Given the description of an element on the screen output the (x, y) to click on. 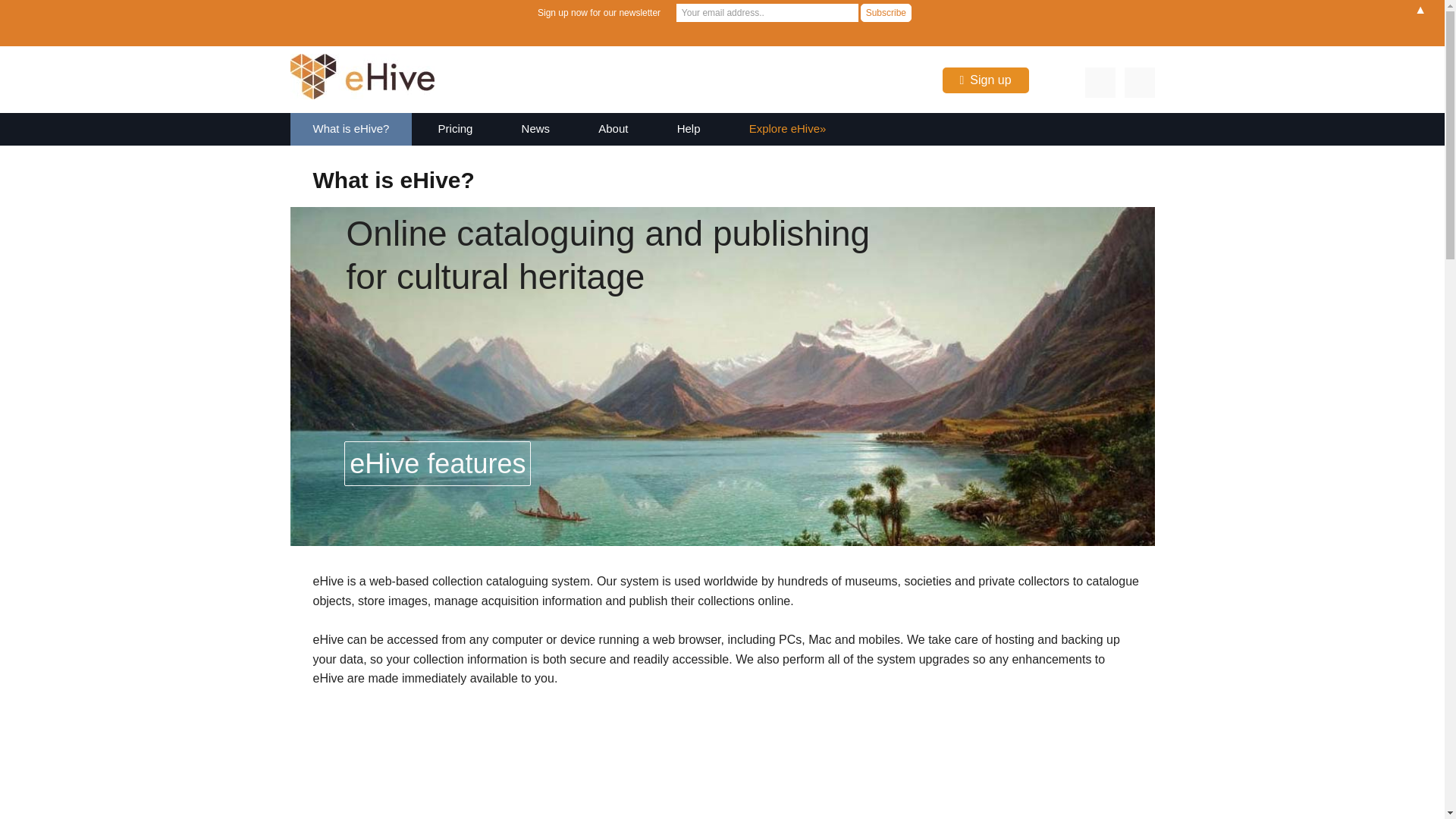
What is eHive? (350, 129)
Sign up (989, 79)
Subscribe (885, 13)
What is eHive? (726, 763)
eHive features (437, 463)
News (536, 129)
eHive (365, 81)
About (612, 129)
Pricing (455, 129)
Help (688, 129)
